Given the description of an element on the screen output the (x, y) to click on. 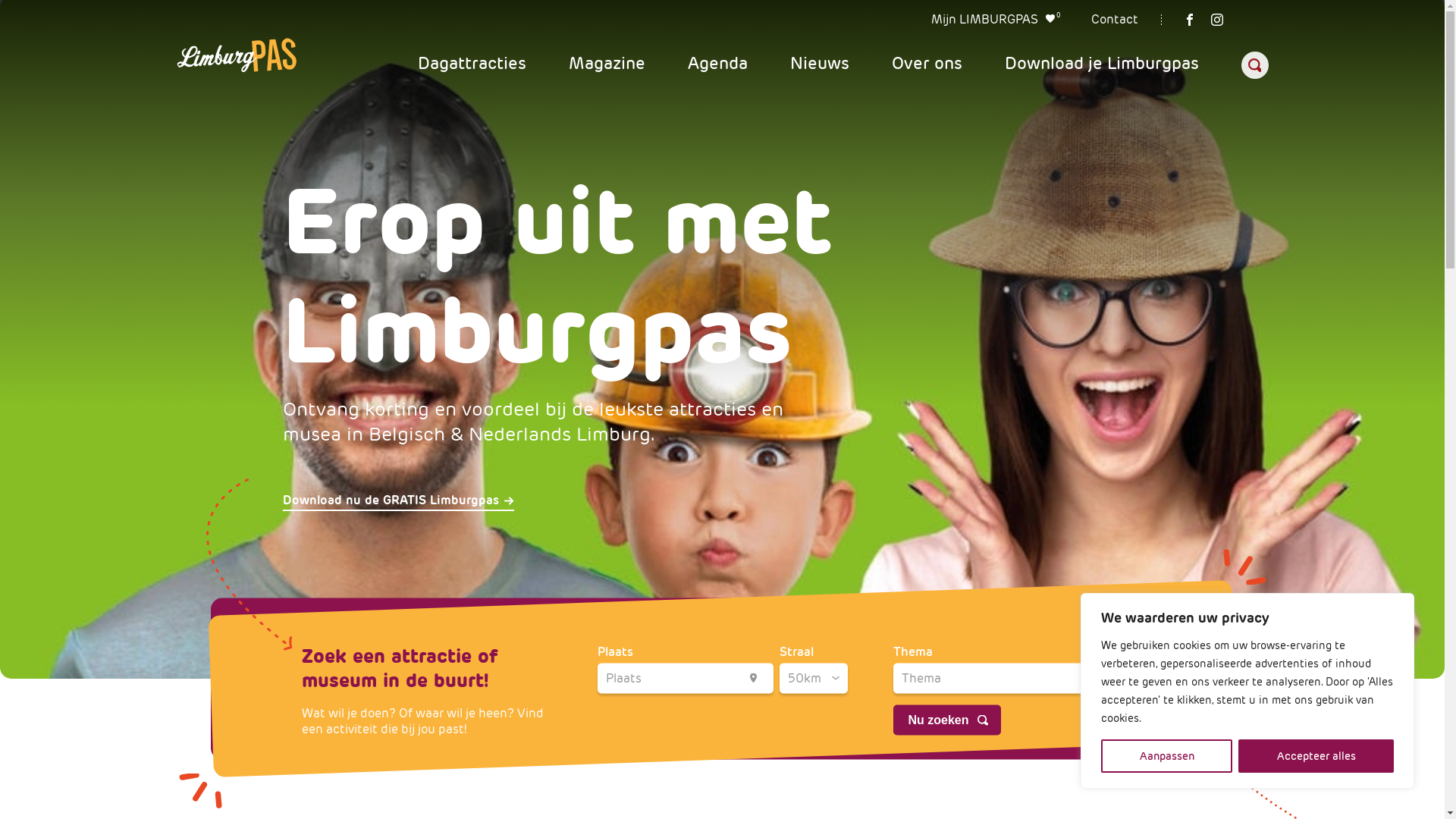
Nieuws Element type: text (819, 64)
Over ons Element type: text (926, 64)
Download nu de GRATIS Limburgpas Element type: text (397, 501)
Contact Element type: text (1113, 21)
Download je Limburgpas Element type: text (1101, 64)
Magazine Element type: text (606, 64)
Instagram Element type: text (1216, 19)
Facebook Element type: text (1189, 19)
Mijn LIMBURGPAS Element type: text (984, 21)
Overslaan en naar de inhoud gaan Element type: text (0, 0)
Agenda Element type: text (716, 64)
Aanpassen Element type: text (1166, 755)
Accepteer alles Element type: text (1315, 755)
Nu zoeken Element type: text (947, 719)
Dagattracties Element type: text (471, 64)
